Given the description of an element on the screen output the (x, y) to click on. 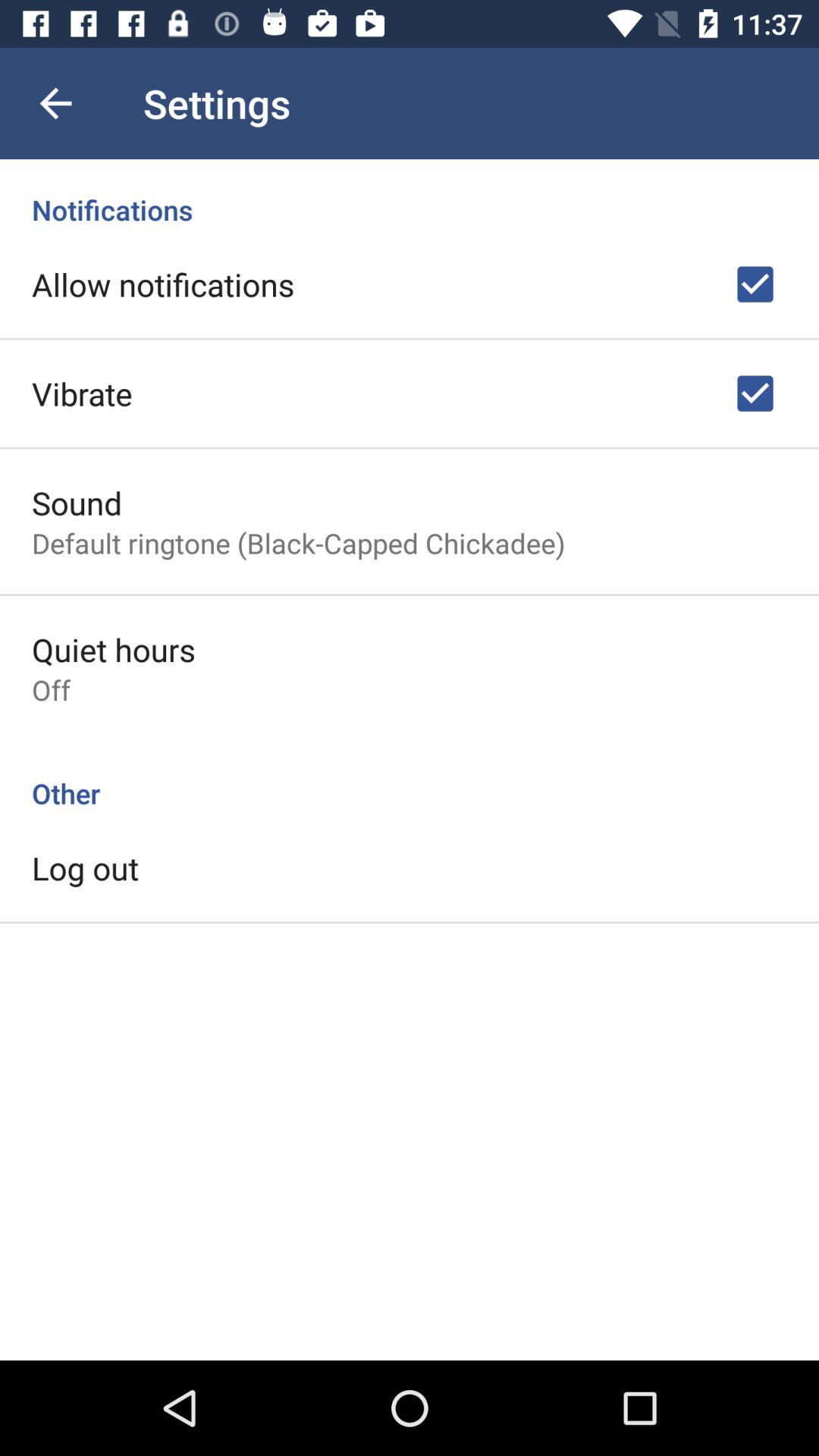
turn on the log out icon (84, 867)
